Given the description of an element on the screen output the (x, y) to click on. 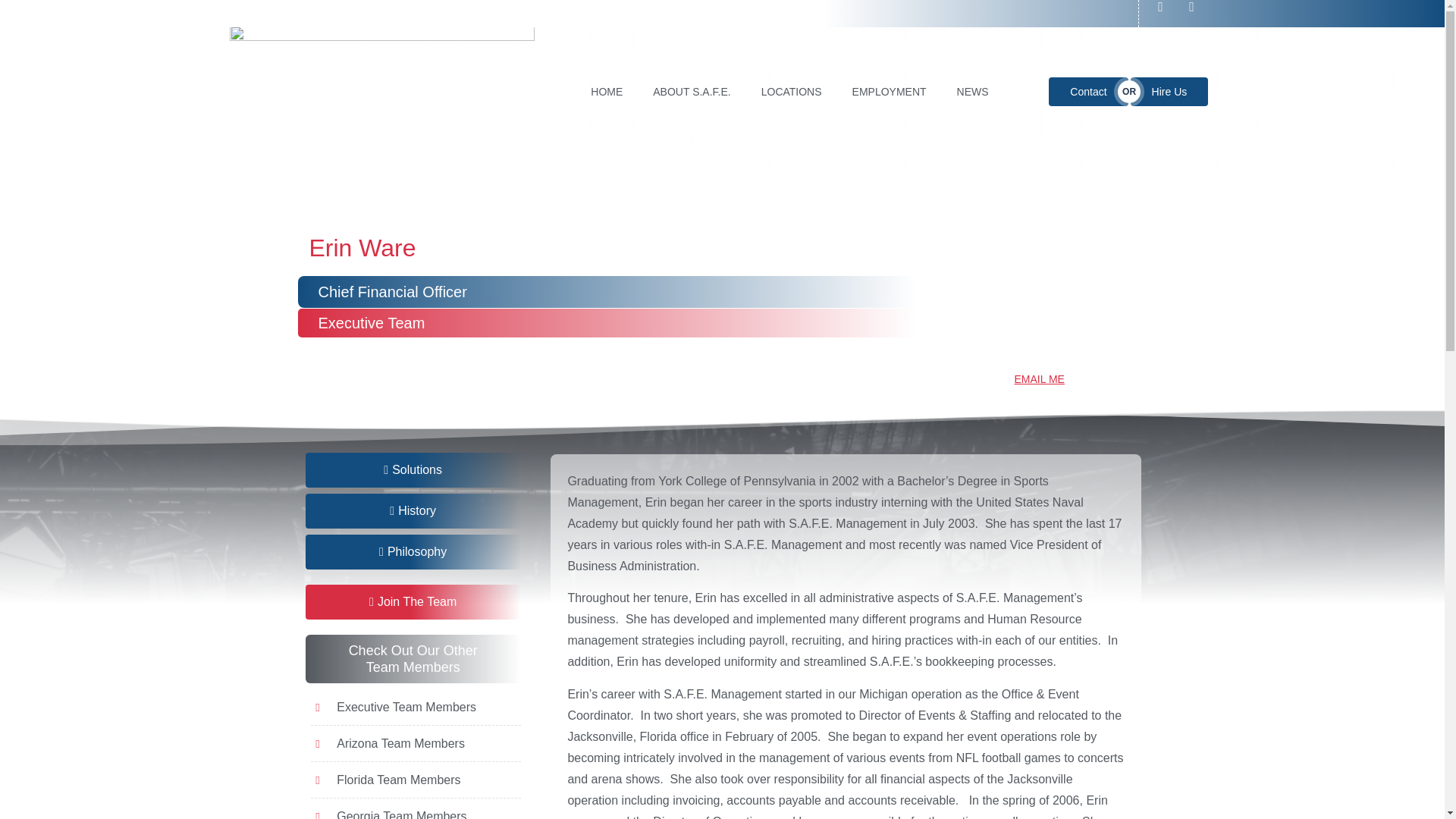
HOME (606, 91)
NEWS (973, 91)
Arizona Team Members (416, 743)
Contact (1087, 91)
Solutions (411, 469)
Executive Team (371, 321)
Executive Team Members (416, 707)
Join The Team (411, 601)
History (411, 510)
Georgia Team Members (416, 813)
